Given the description of an element on the screen output the (x, y) to click on. 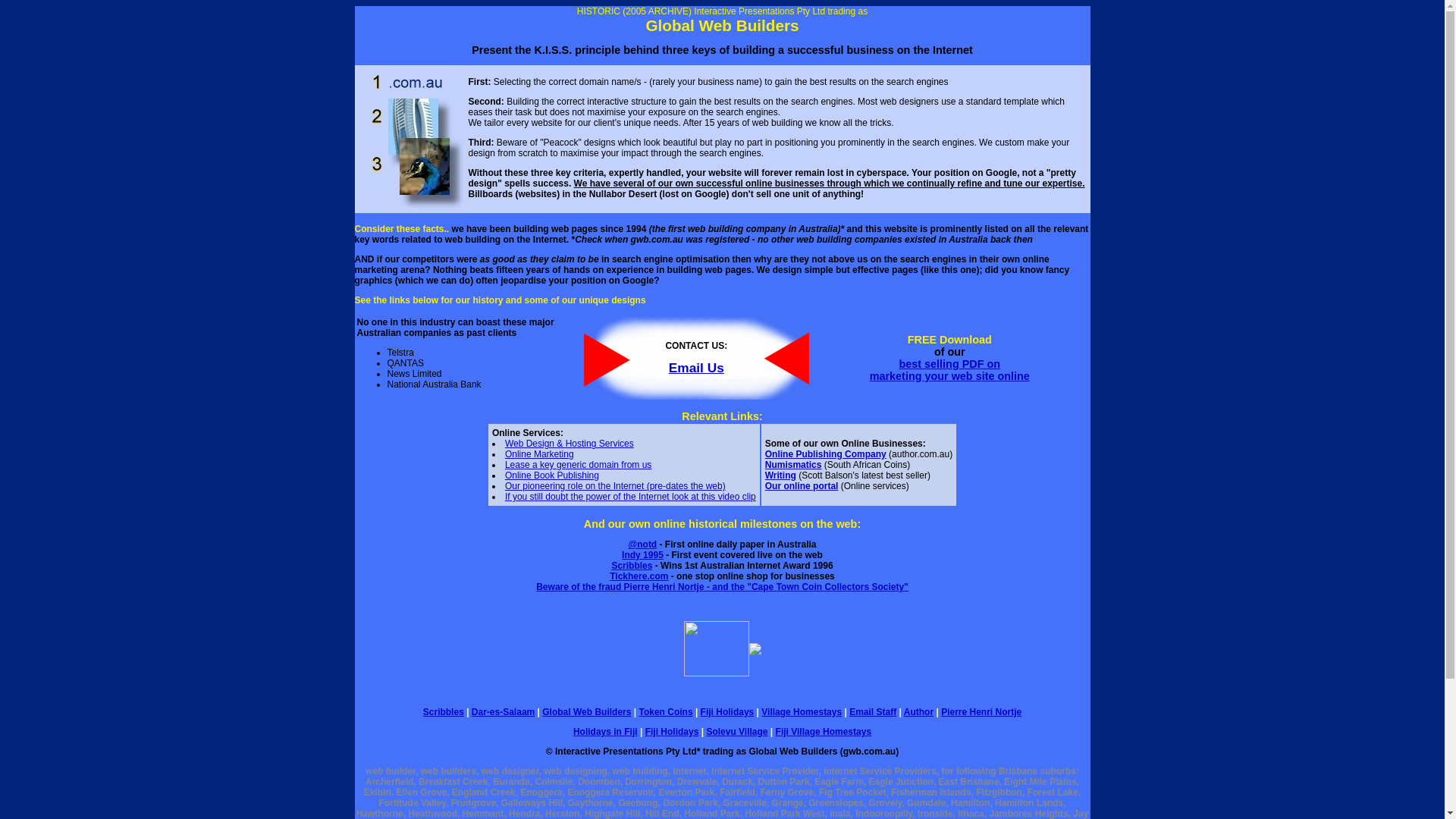
Scribbles Element type: text (443, 711)
Dar-es-Salaam Element type: text (502, 711)
Author Element type: text (918, 711)
Village Homestays Element type: text (801, 711)
Tickhere.com Element type: text (638, 576)
Numismatics Element type: text (793, 464)
Web Design & Hosting Services Element type: text (569, 443)
Solevu Village Element type: text (736, 731)
Holidays in Fiji Element type: text (605, 731)
Fiji Holidays Element type: text (727, 711)
Global Web Builders Element type: text (586, 711)
Our online portal Element type: text (801, 485)
Lease a key generic domain from us Element type: text (578, 464)
Pierre Henri Nortje Element type: text (981, 711)
@notd Element type: text (642, 544)
Fiji Holidays Element type: text (672, 731)
best selling PDF on
marketing your web site online Element type: text (949, 369)
Online Marketing Element type: text (539, 453)
Writing Element type: text (780, 475)
Scribbles Element type: text (631, 565)
Online Publishing Company Element type: text (825, 453)
Our pioneering role on the Internet (pre-dates the web) Element type: text (615, 485)
Email Us Element type: text (696, 366)
Token Coins Element type: text (665, 711)
Fiji Village Homestays Element type: text (823, 731)
Email Staff Element type: text (872, 711)
Online Book Publishing Element type: text (552, 475)
Indy 1995 Element type: text (642, 554)
